Given the description of an element on the screen output the (x, y) to click on. 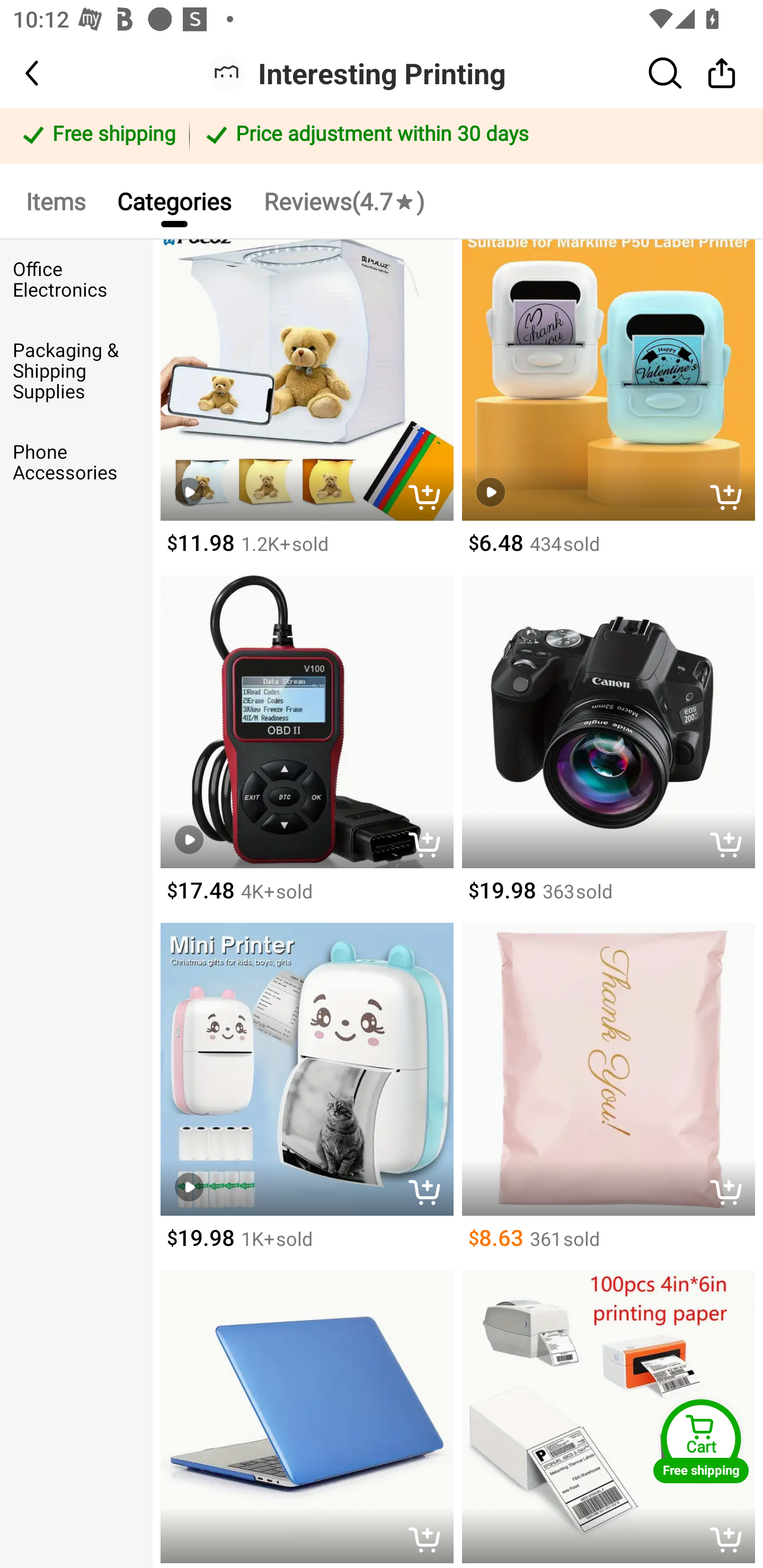
back (47, 72)
share (721, 72)
Free shipping (97, 135)
Price adjustment within 30 days (472, 135)
Items (55, 200)
Categories (174, 200)
Reviews(4.7 ) (343, 200)
Office Electronics (76, 279)
delete $11.98 1.2K+￼sold (306, 407)
delete $6.48 434￼sold (608, 407)
Packaging & Shipping Supplies (76, 370)
Phone Accessories (76, 462)
delete (429, 499)
delete (731, 499)
delete $17.48 4K+￼sold (306, 749)
delete $19.98 363￼sold (608, 749)
delete (429, 846)
delete (731, 846)
delete $19.98 1K+￼sold (306, 1096)
delete $8.63 361￼sold (608, 1096)
delete (429, 1193)
delete (731, 1193)
delete (306, 1419)
delete (608, 1419)
Cart Free shipping Cart (701, 1440)
delete (429, 1541)
delete (731, 1541)
